Given the description of an element on the screen output the (x, y) to click on. 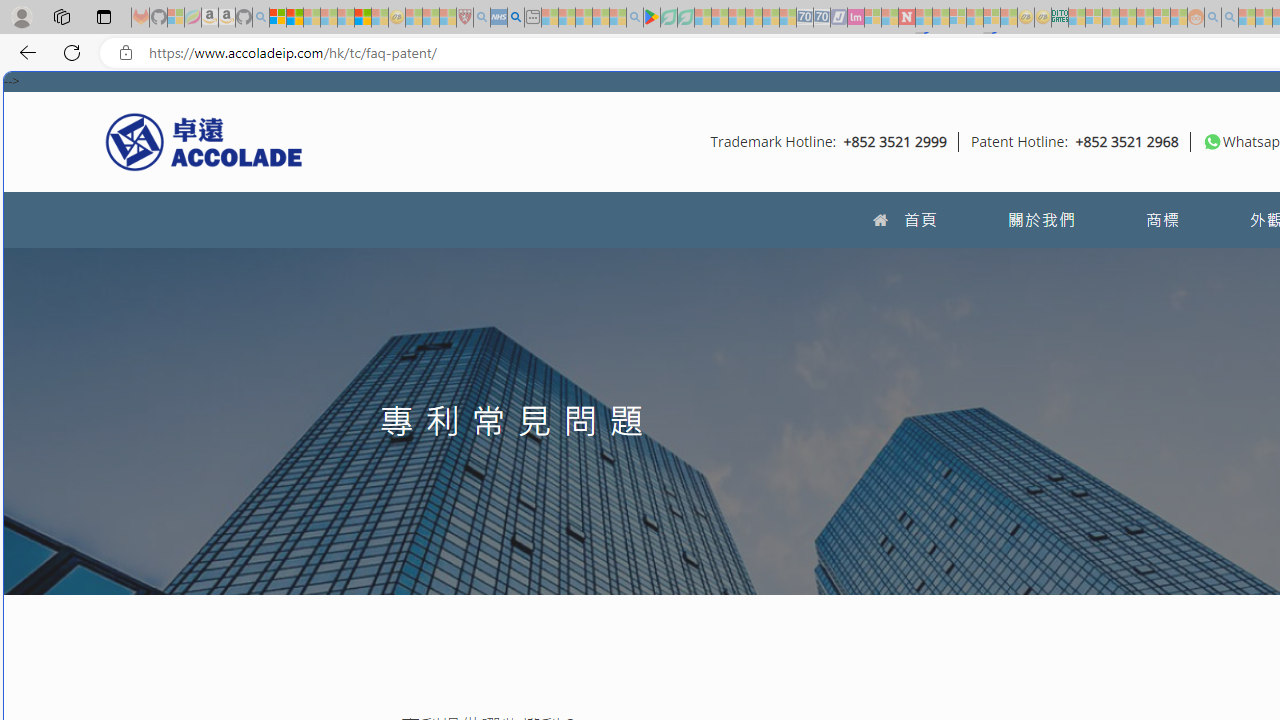
google - Search - Sleeping (634, 17)
